Given the description of an element on the screen output the (x, y) to click on. 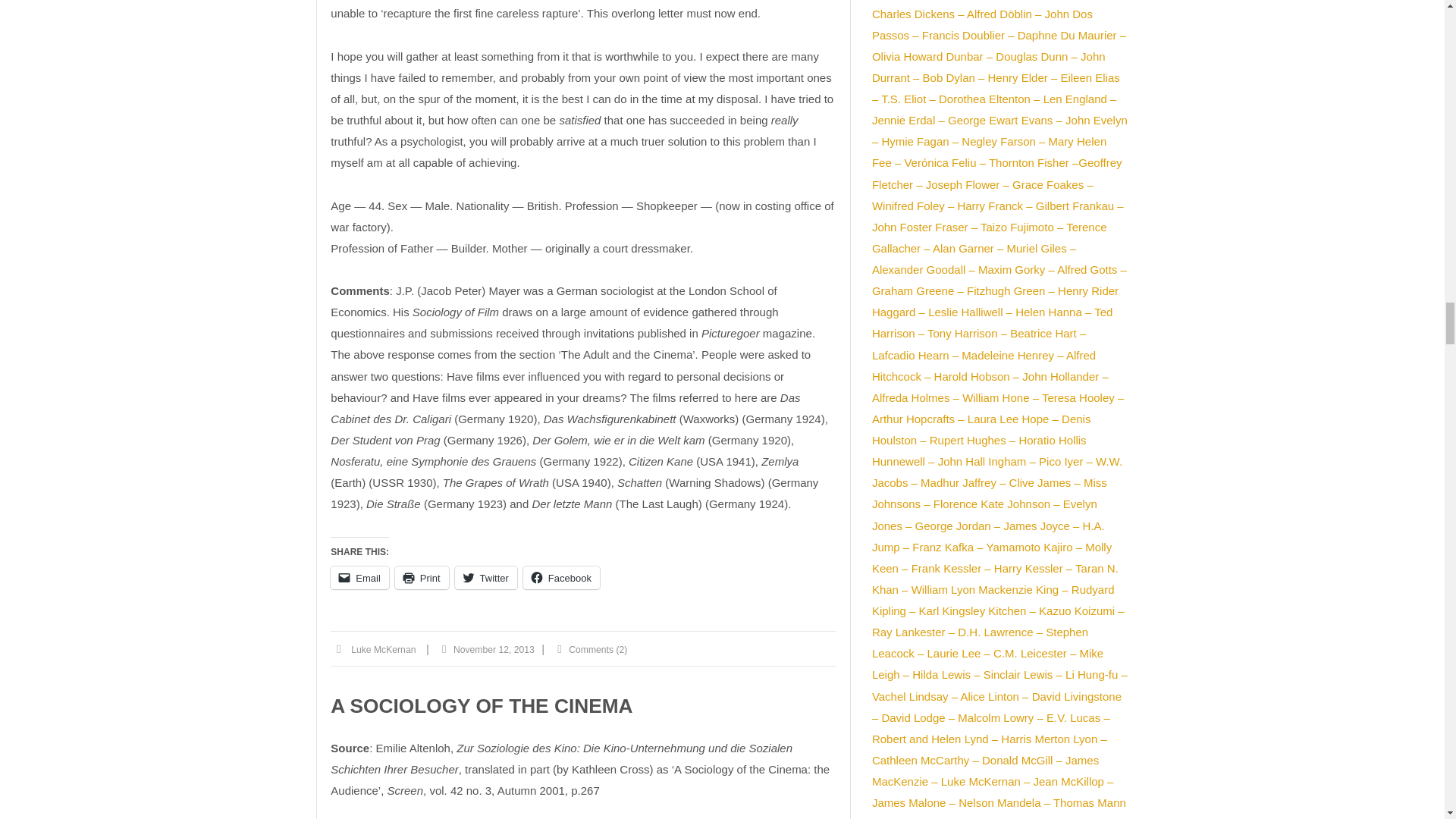
Click to print (421, 577)
A SOCIOLOGY OF THE CINEMA (480, 705)
Print (421, 577)
Email (359, 577)
Twitter (485, 577)
Facebook (560, 577)
Click to share on Facebook (560, 577)
Luke McKernan (382, 650)
Click to share on Twitter (485, 577)
Click to email a link to a friend (359, 577)
